Given the description of an element on the screen output the (x, y) to click on. 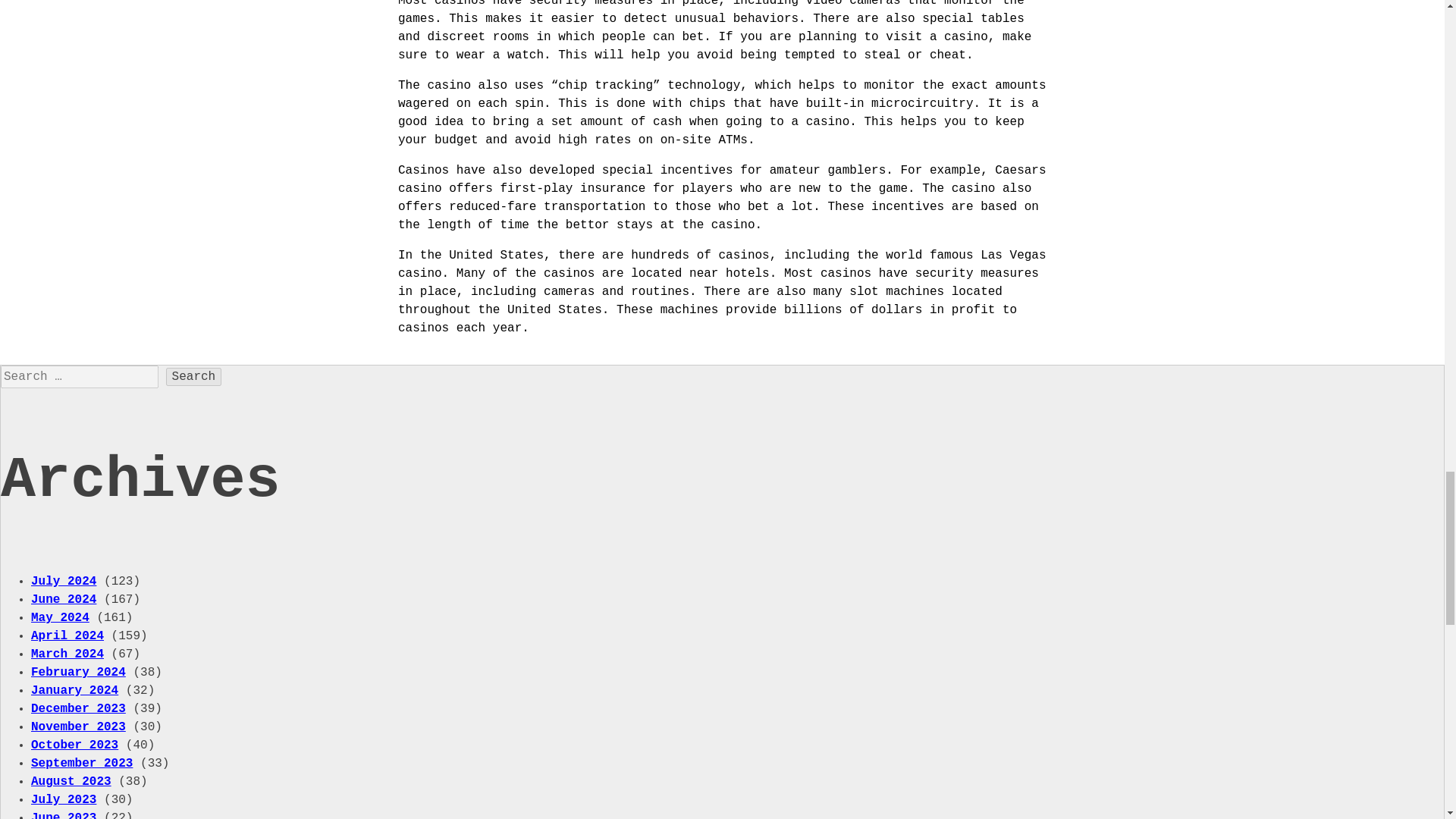
February 2024 (77, 672)
October 2023 (73, 745)
September 2023 (81, 763)
June 2024 (63, 599)
January 2024 (73, 690)
June 2023 (63, 815)
July 2023 (63, 799)
May 2024 (59, 617)
March 2024 (66, 653)
Search (193, 376)
November 2023 (77, 726)
July 2024 (63, 581)
December 2023 (77, 708)
Search (193, 376)
August 2023 (71, 781)
